Given the description of an element on the screen output the (x, y) to click on. 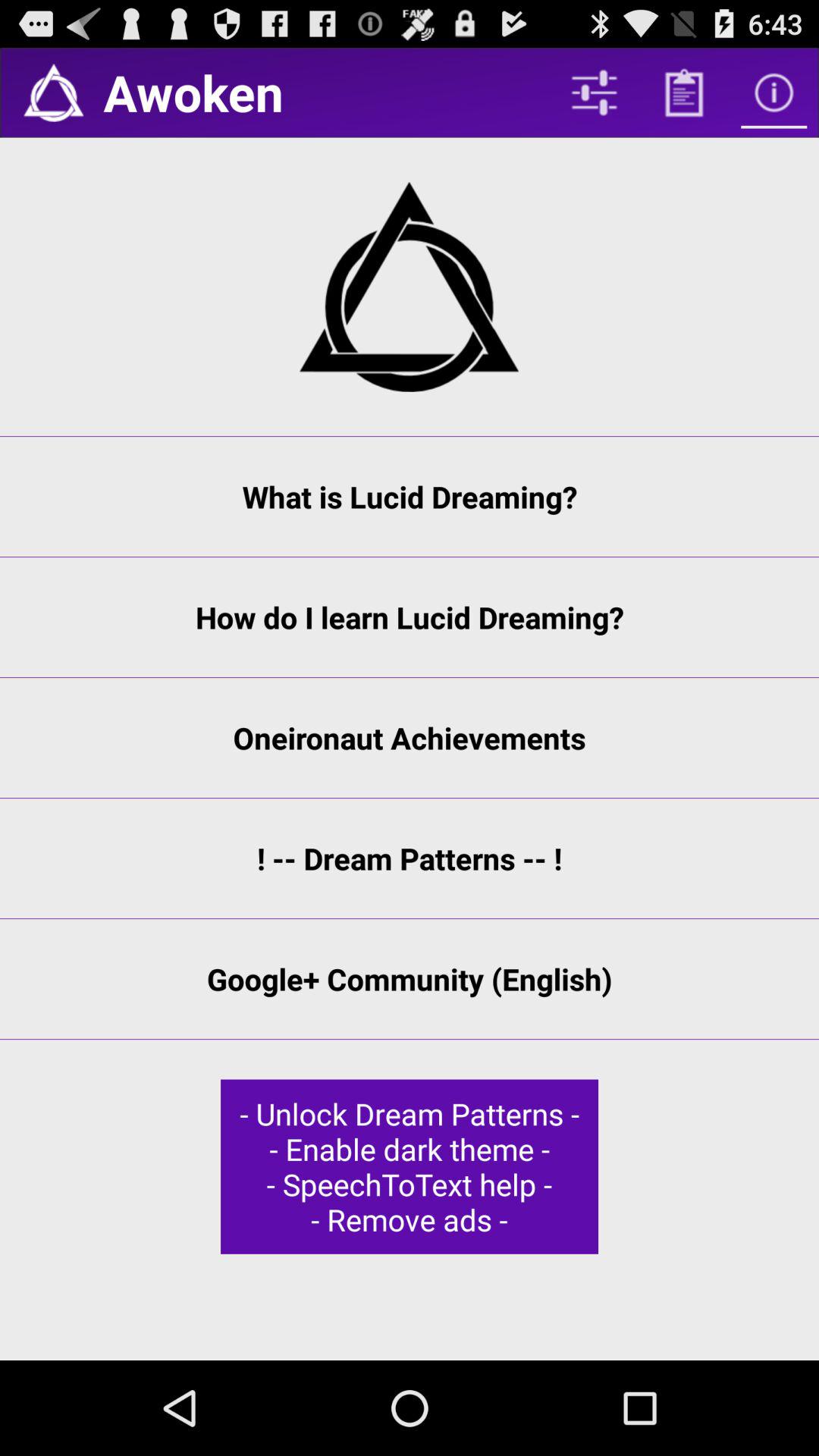
go to home page (53, 92)
